Given the description of an element on the screen output the (x, y) to click on. 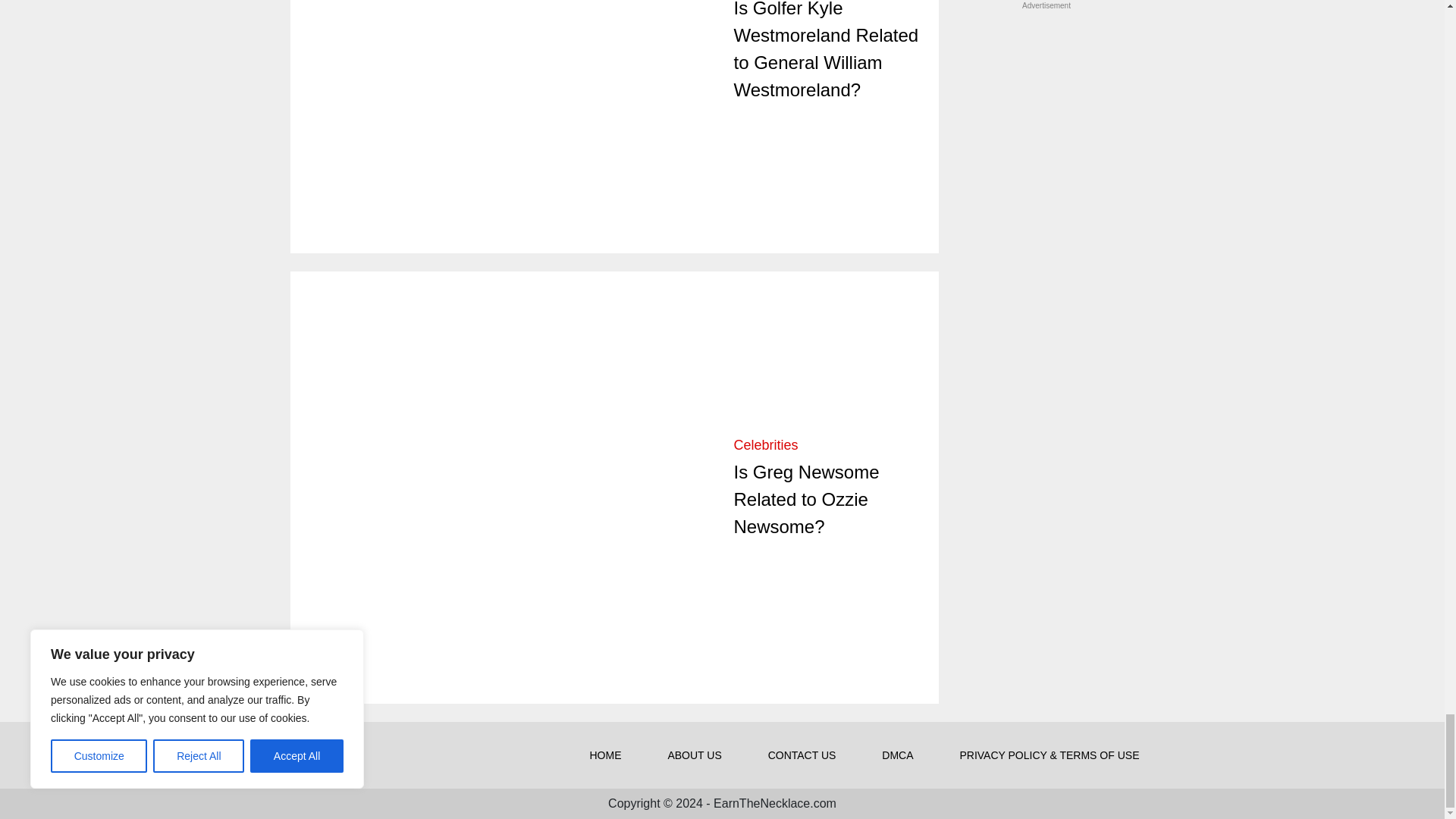
Category Name (765, 444)
